Given the description of an element on the screen output the (x, y) to click on. 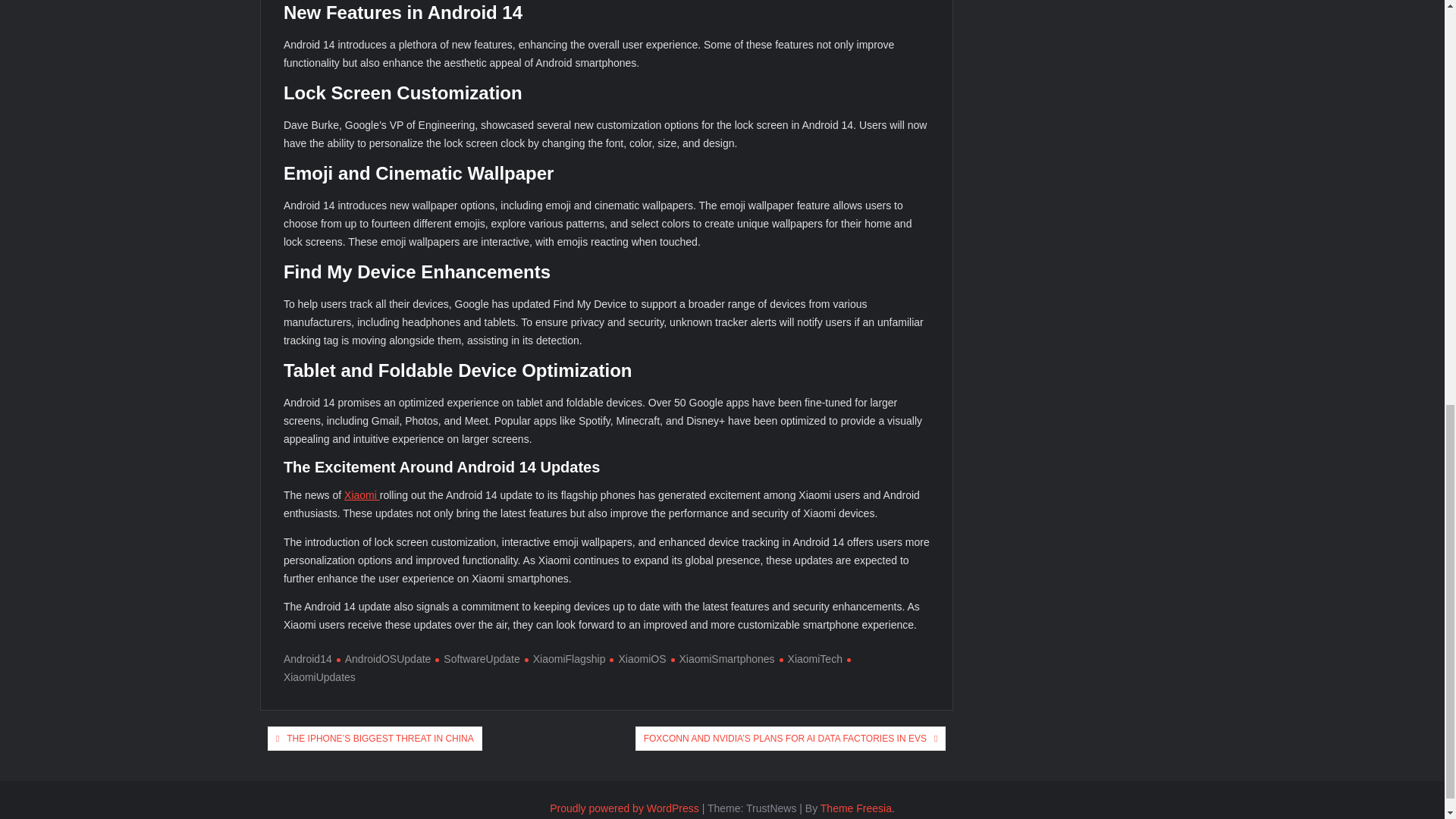
XiaomiTech (810, 658)
Android14 (307, 658)
SoftwareUpdate (477, 658)
XiaomiOS (637, 658)
XiaomiUpdates (569, 667)
XiaomiSmartphones (722, 658)
AndroidOSUpdate (383, 658)
XiaomiFlagship (564, 658)
Xiaomi (361, 494)
